Given the description of an element on the screen output the (x, y) to click on. 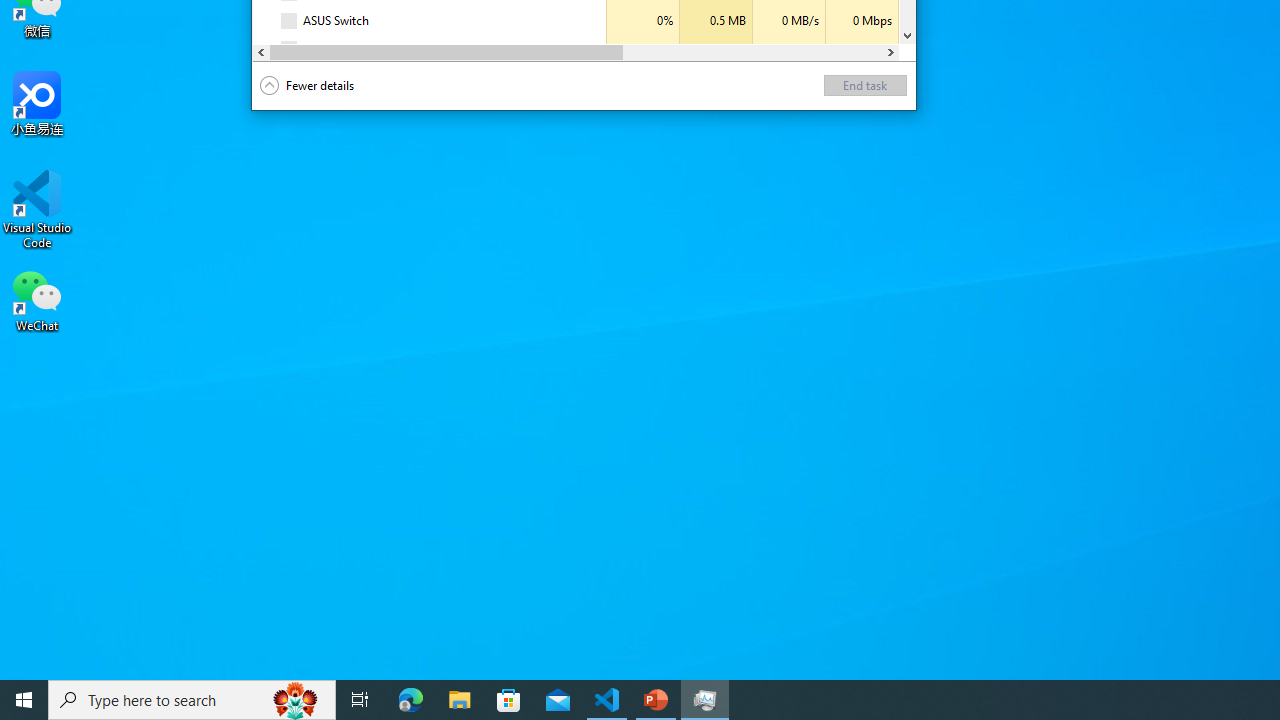
Column left (261, 52)
Page right (752, 52)
Disk (788, 49)
End task (865, 85)
Horizontal (575, 52)
Network (861, 49)
Memory (715, 49)
Fewer details (307, 86)
Column right (889, 52)
AutomationID: TmColStatusText (490, 49)
CPU (642, 49)
